Given the description of an element on the screen output the (x, y) to click on. 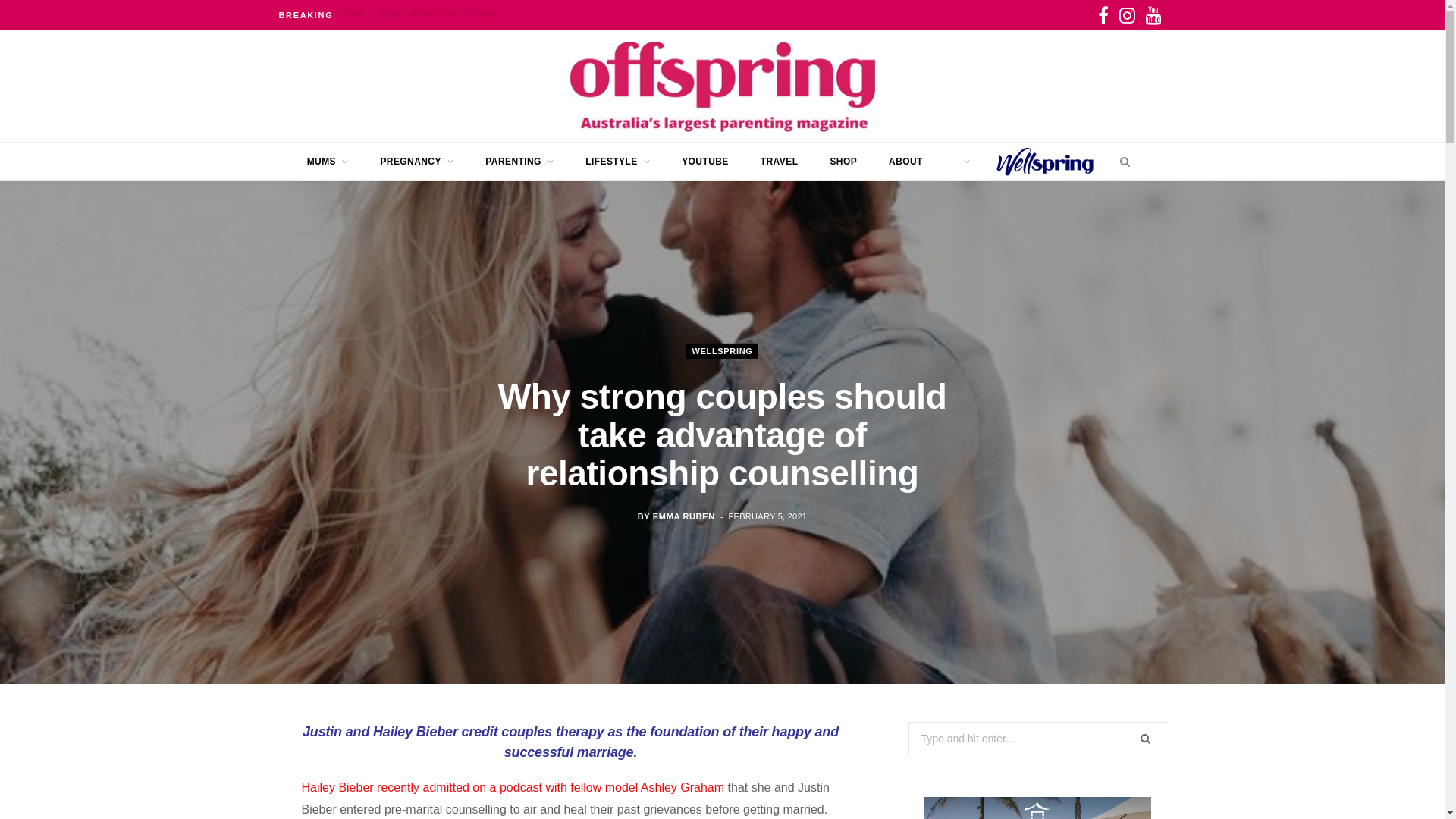
YouTube Element type: text (1152, 15)
FEBRUARY 5, 2021 Element type: text (767, 515)
SHOP Element type: text (842, 161)
THE AUSSIE MUMS OF TIKTOK Element type: text (424, 14)
EMMA RUBEN Element type: text (683, 515)
Facebook Element type: text (1103, 15)
PARENTING Element type: text (519, 161)
PREGNANCY Element type: text (416, 161)
YOUTUBE Element type: text (704, 161)
LIFESTYLE Element type: text (617, 161)
Instagram Element type: text (1126, 15)
Offspring Magazine Element type: hover (721, 85)
MUMS Element type: text (327, 161)
Search for: Element type: hover (1037, 737)
TRAVEL Element type: text (779, 161)
WELLSPRING Element type: text (722, 350)
Search Element type: hover (1120, 161)
  Element type: text (961, 161)
ABOUT Element type: text (905, 161)
